Given the description of an element on the screen output the (x, y) to click on. 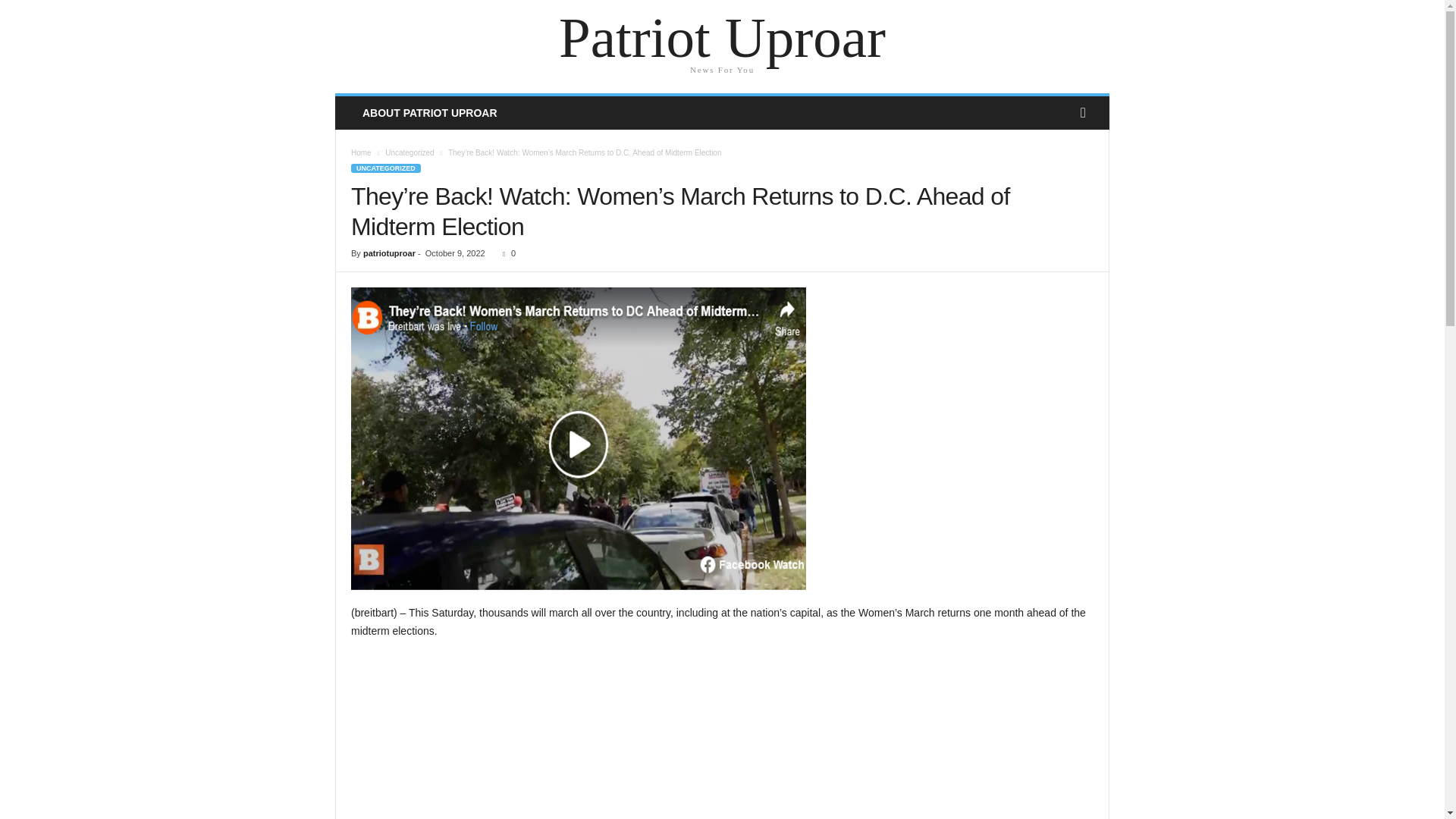
UNCATEGORIZED (385, 167)
ABOUT PATRIOT UPROAR (429, 112)
View all posts in Uncategorized (409, 152)
Uncategorized (409, 152)
Home (360, 152)
patriotuproar (388, 252)
Patriot Uproar (721, 38)
0 (505, 252)
